Given the description of an element on the screen output the (x, y) to click on. 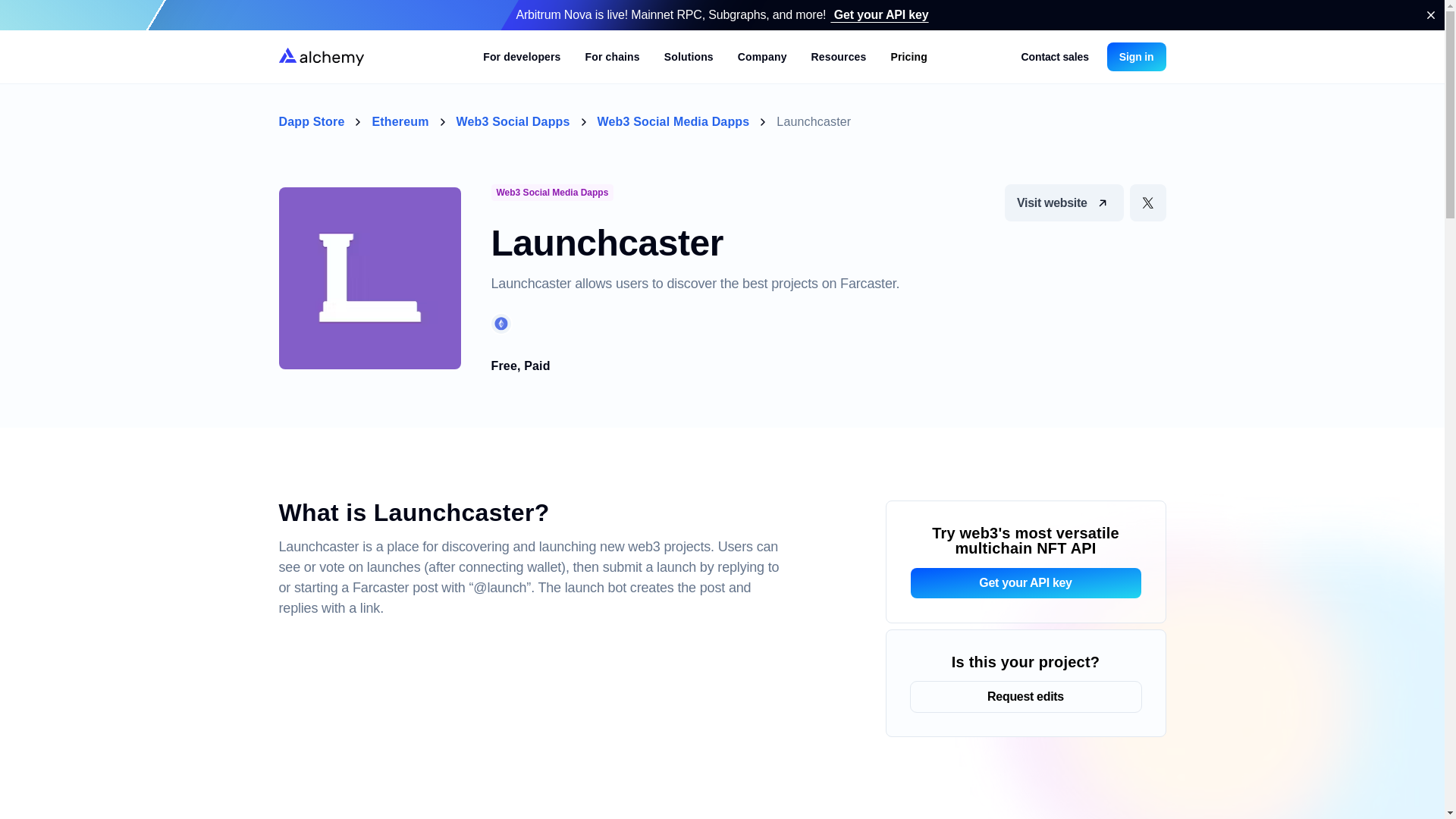
Get your API key (878, 14)
Ethereum (501, 323)
